Given the description of an element on the screen output the (x, y) to click on. 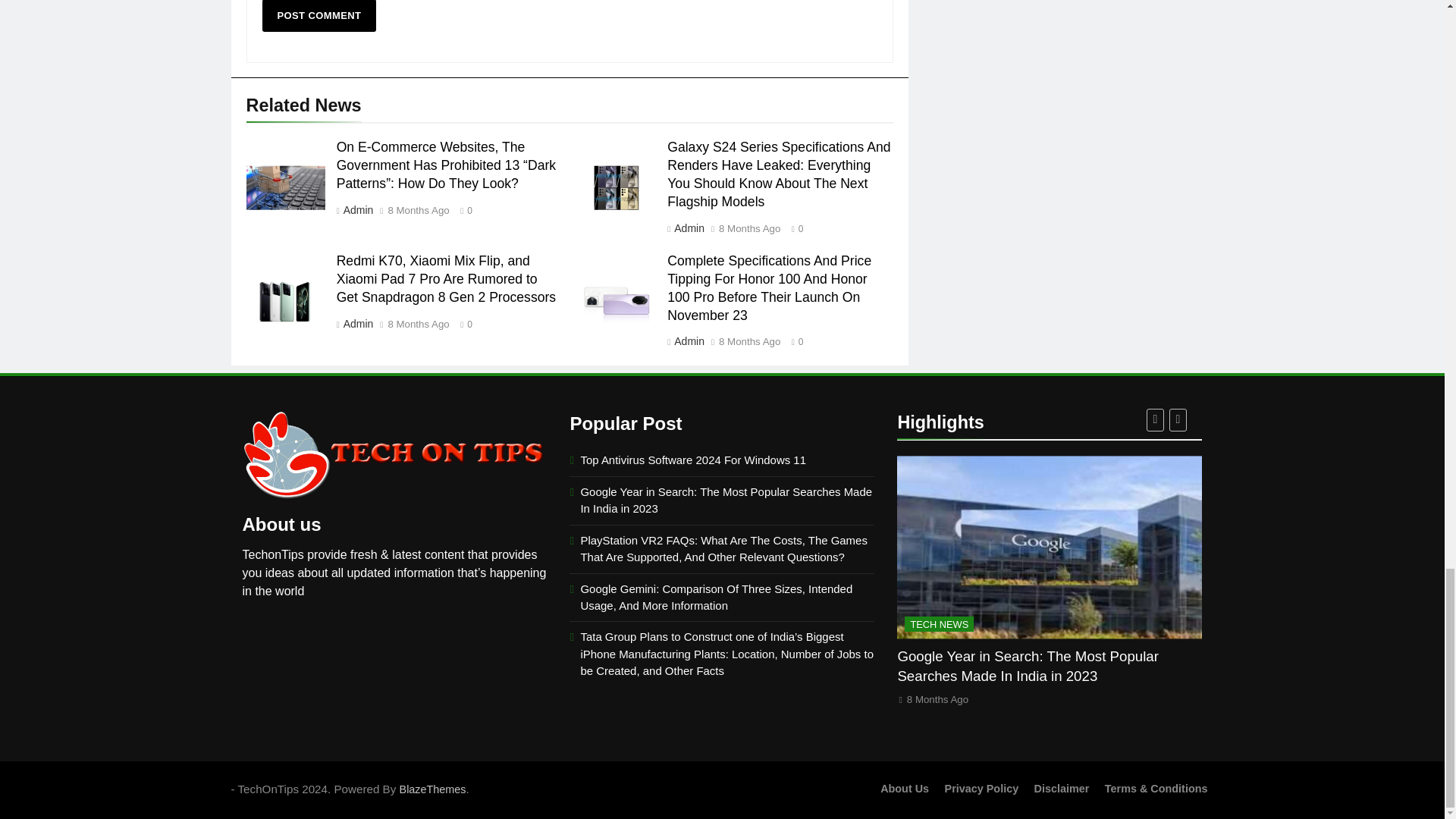
Post Comment (319, 15)
